Given the description of an element on the screen output the (x, y) to click on. 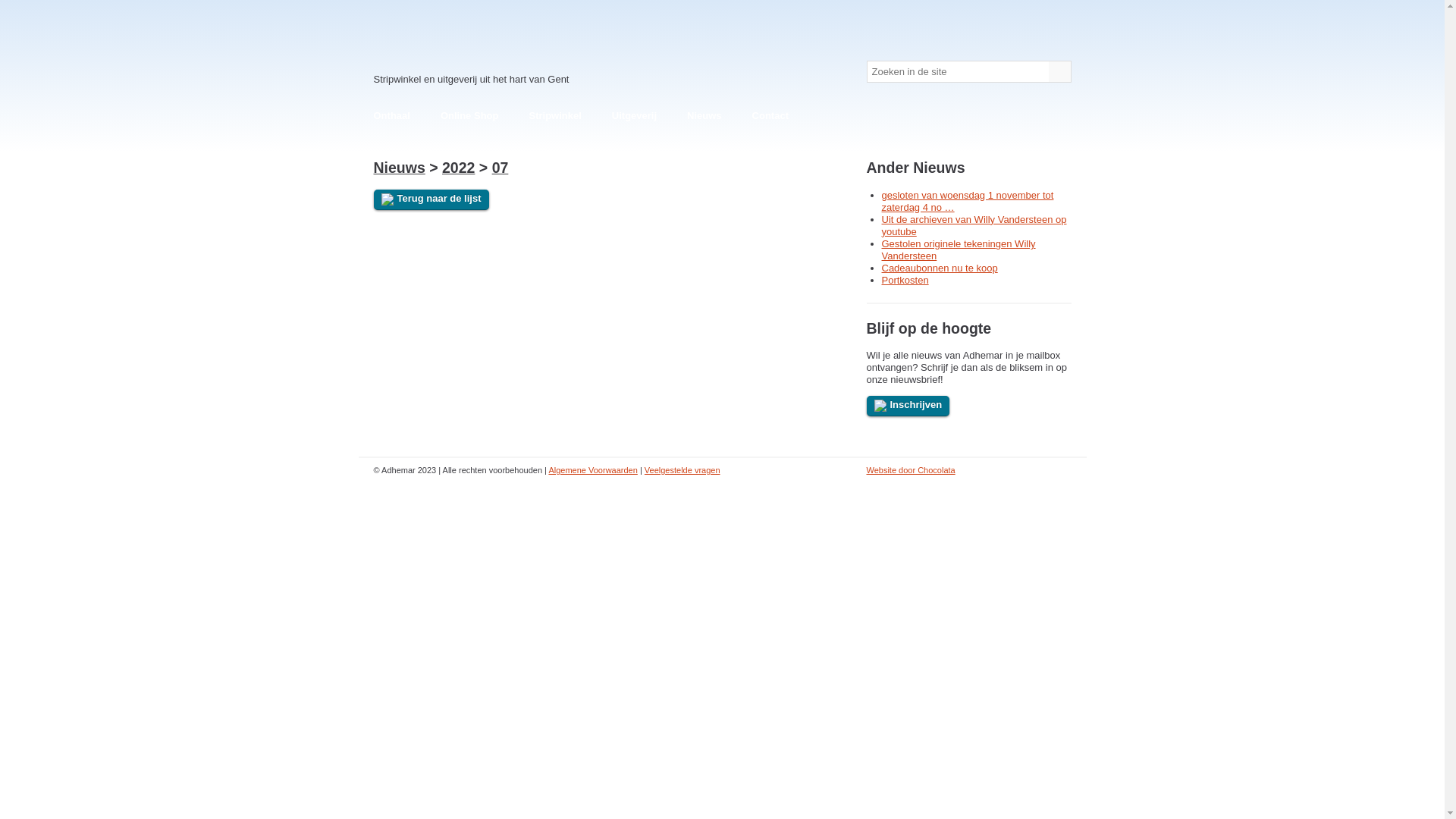
Stripwinkel Element type: text (554, 115)
Uitgeverij Element type: text (633, 115)
Online Shop Element type: text (469, 115)
Portkosten Element type: text (904, 279)
2022 Element type: text (458, 167)
Inschrijven Element type: text (907, 405)
Nieuws Element type: text (398, 167)
Algemene Voorwaarden Element type: text (592, 469)
Zoeken Element type: text (1059, 71)
Uit de archieven van Willy Vandersteen op youtube Element type: text (973, 225)
07 Element type: text (500, 167)
Gestolen originele tekeningen Willy Vandersteen Element type: text (958, 249)
Nieuws Element type: text (704, 115)
Terug naar de lijst Element type: text (430, 199)
Contact Element type: text (770, 115)
Onthaal Element type: text (390, 115)
Website door Chocolata Element type: text (910, 469)
Veelgestelde vragen Element type: text (682, 469)
Cadeaubonnen nu te koop Element type: text (939, 267)
